Given the description of an element on the screen output the (x, y) to click on. 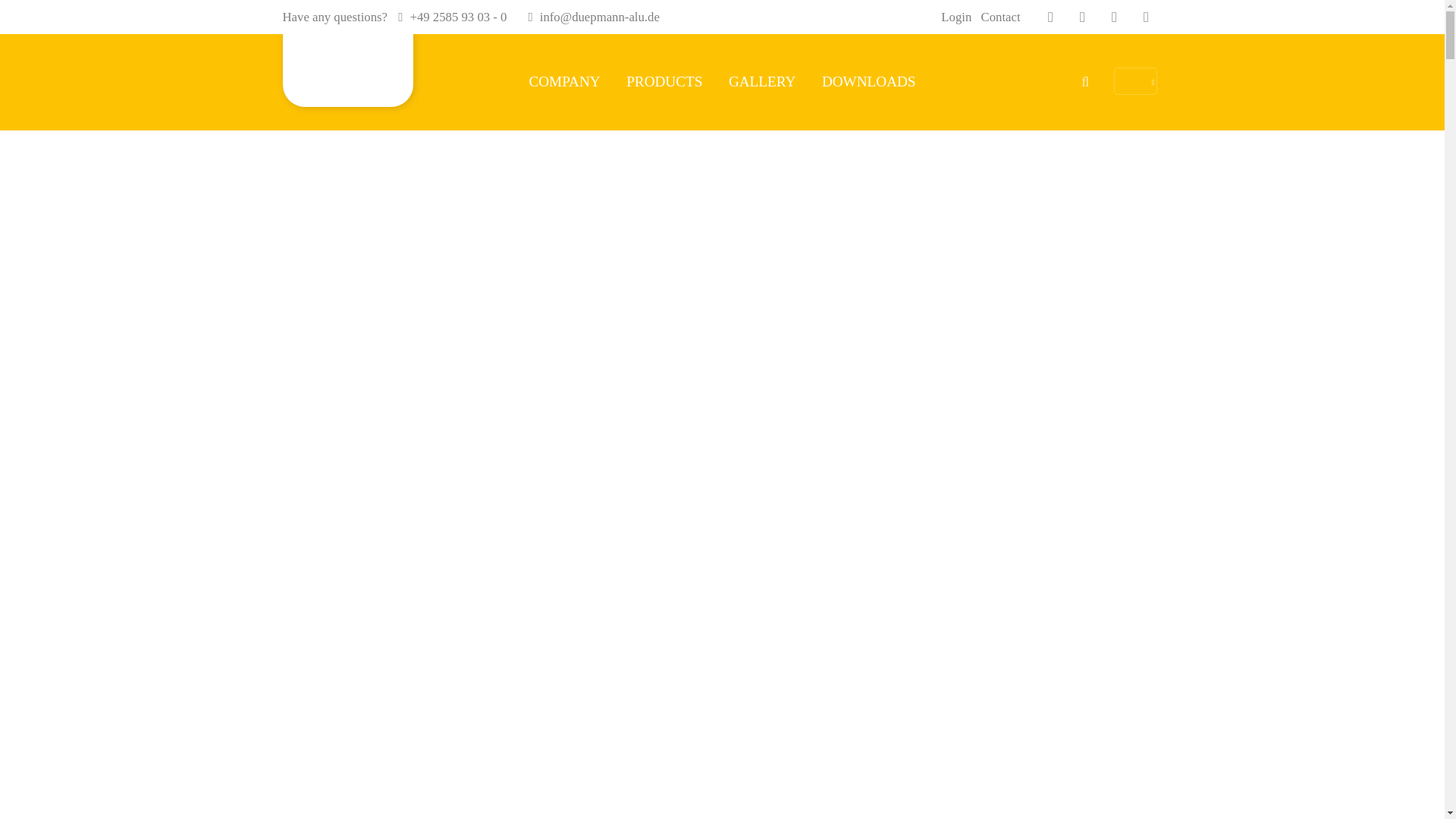
Contact (1000, 16)
Products (663, 81)
GALLERY (761, 81)
Login (955, 16)
COMPANY (563, 81)
Company (563, 81)
PRODUCTS (663, 81)
DOWNLOADS (868, 81)
Login (955, 16)
Contact (1000, 16)
